Given the description of an element on the screen output the (x, y) to click on. 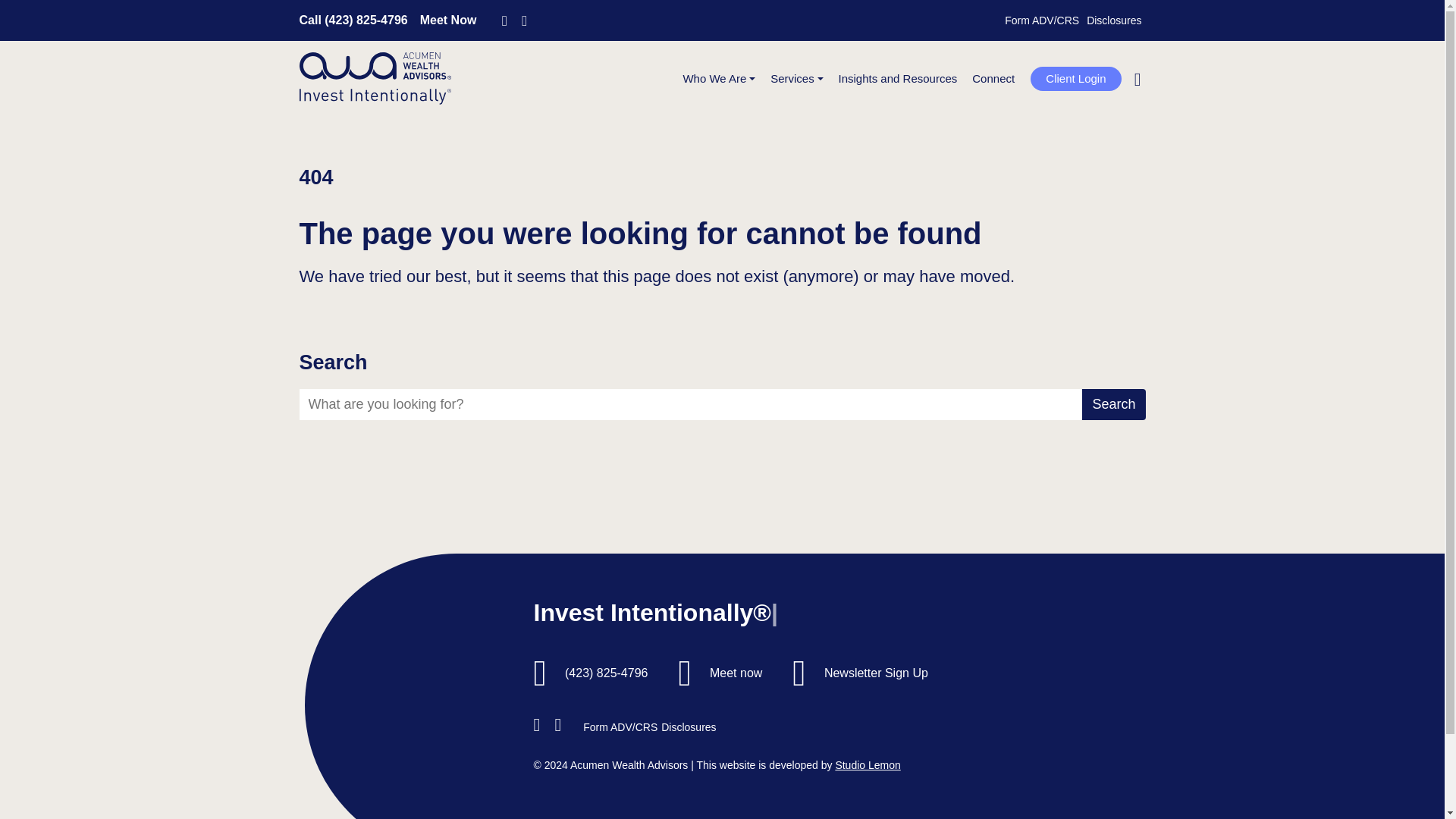
Call Acumen Wealth Advisors (352, 19)
Newsletter Sign Up (876, 673)
Who We Are (718, 78)
Meet Now (448, 19)
Meet now (735, 673)
Disclosures (1113, 20)
Search (1112, 84)
Services (795, 78)
Connect (992, 78)
Acumen Wealth Advisors (373, 78)
Insights and Resources (898, 78)
Search (1112, 404)
Client Login (1075, 78)
Meet Now with Acumen Wealth Advisors (448, 19)
